Given the description of an element on the screen output the (x, y) to click on. 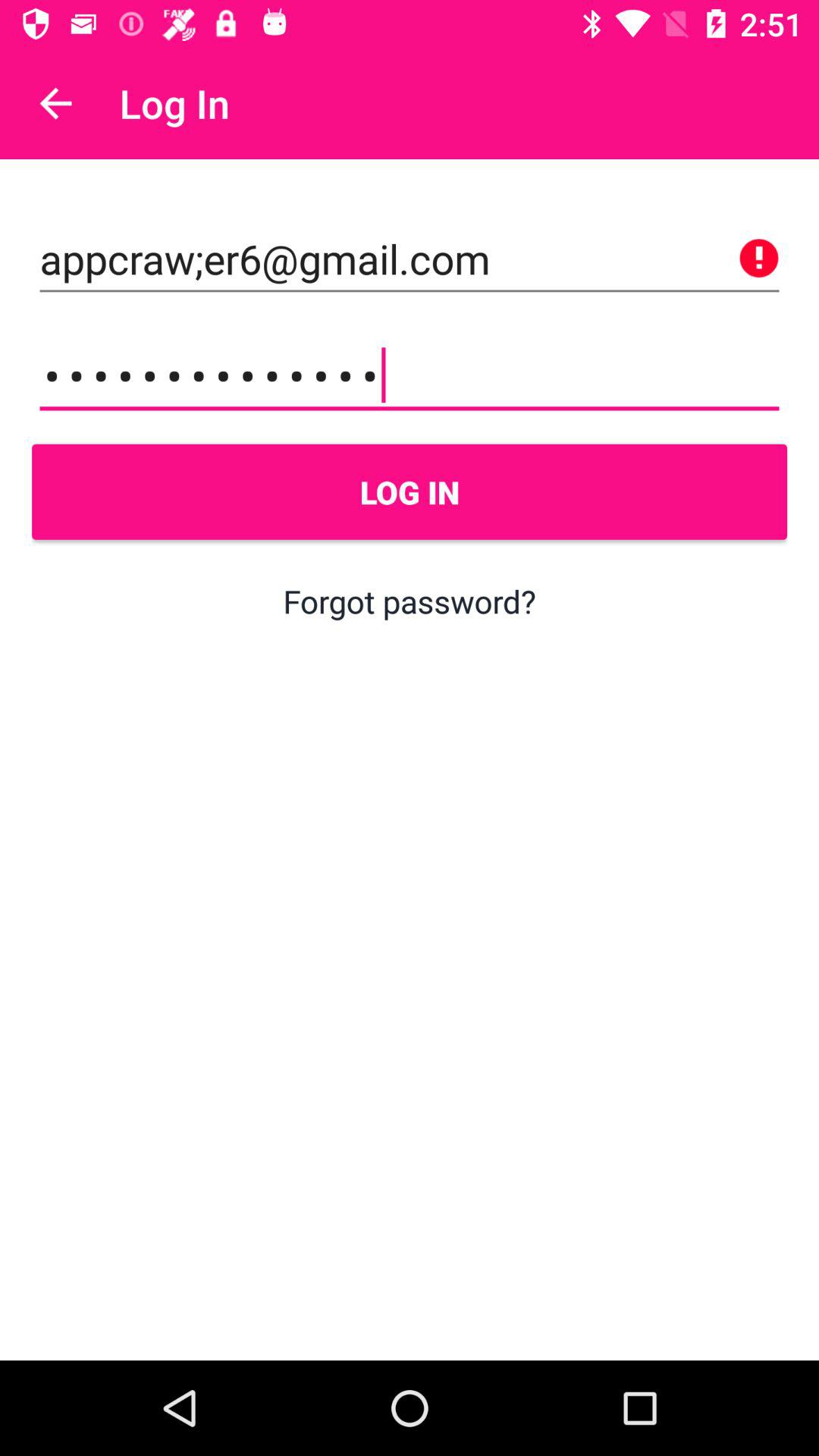
open the icon above log in (409, 375)
